Given the description of an element on the screen output the (x, y) to click on. 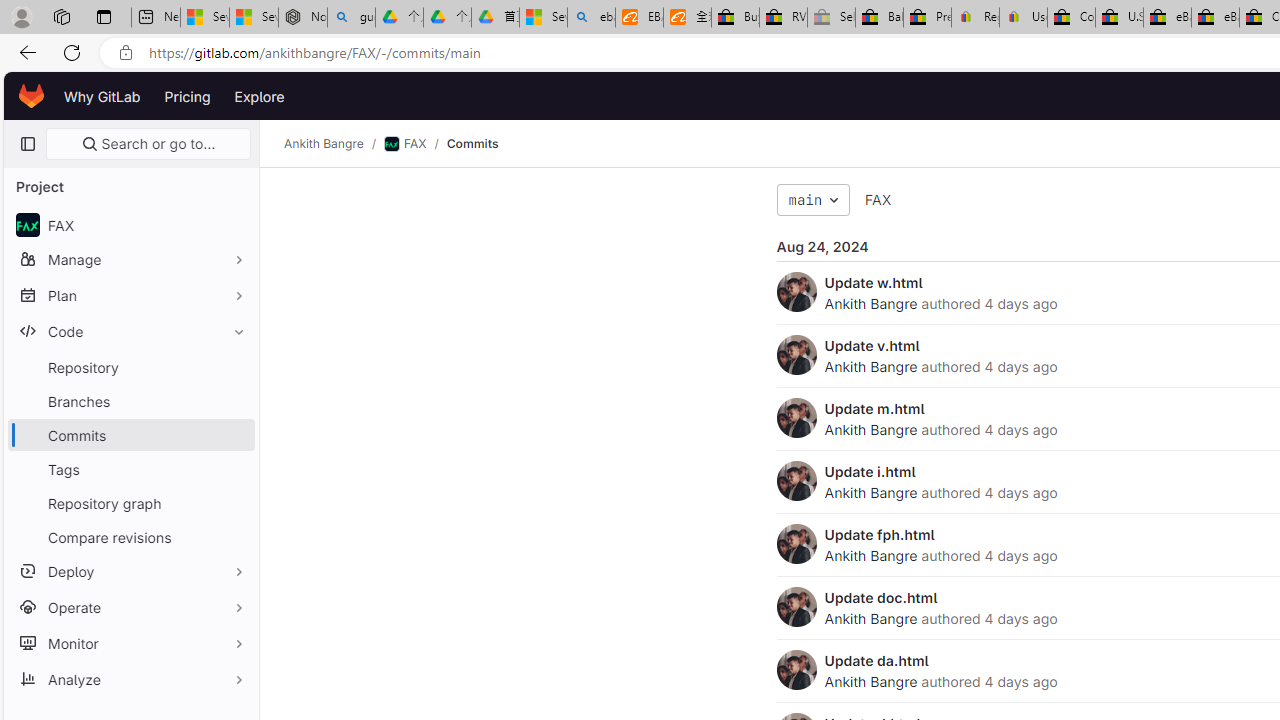
Branches (130, 400)
Update w.html (873, 282)
Operate (130, 606)
Monitor (130, 642)
Homepage (31, 95)
Baby Keepsakes & Announcements for sale | eBay (879, 17)
Register: Create a personal eBay account (975, 17)
avatar FAX (130, 224)
Update da.html (876, 660)
Deploy (130, 570)
avatar (27, 224)
